Given the description of an element on the screen output the (x, y) to click on. 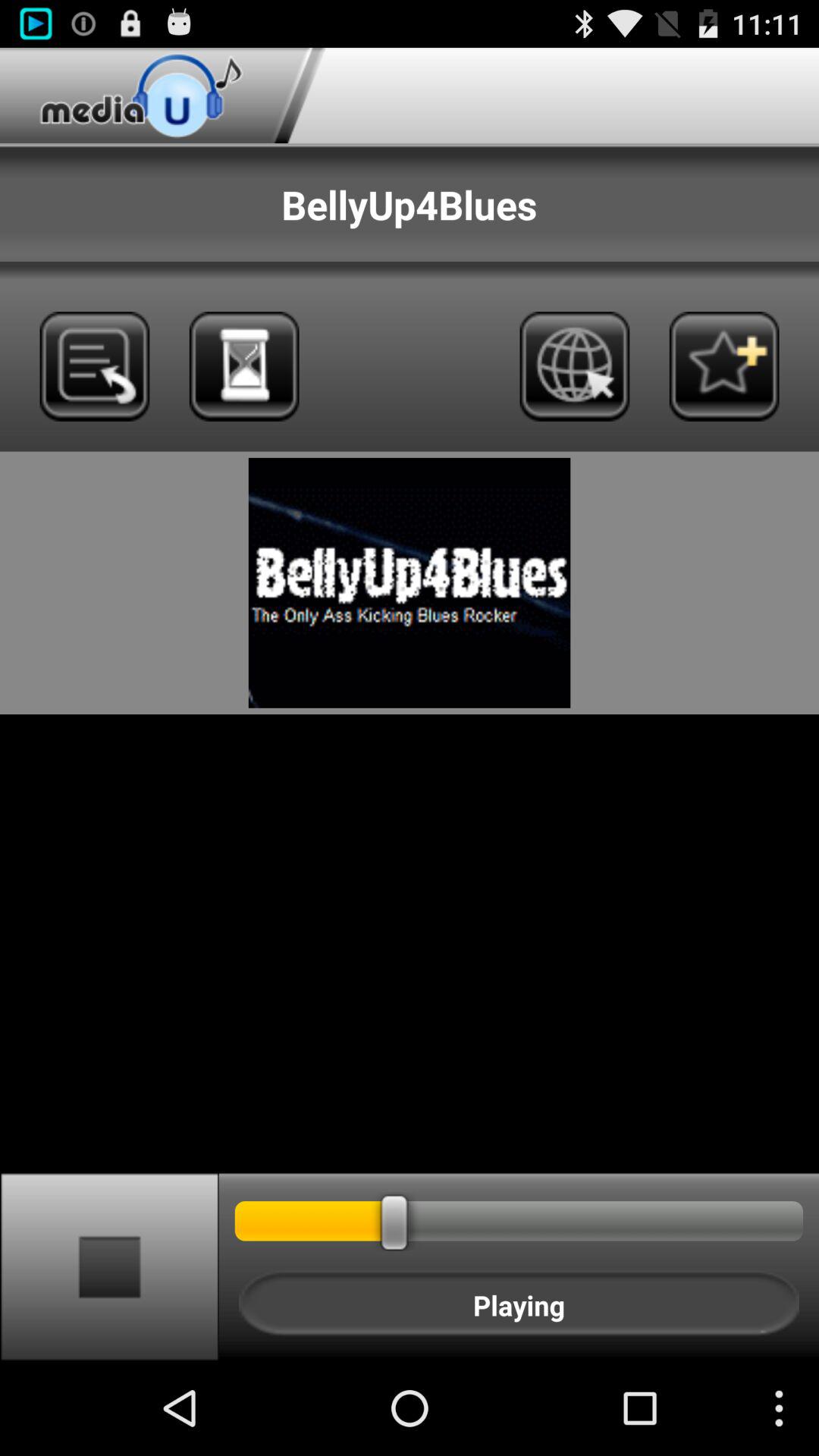
favorite song (724, 366)
